Given the description of an element on the screen output the (x, y) to click on. 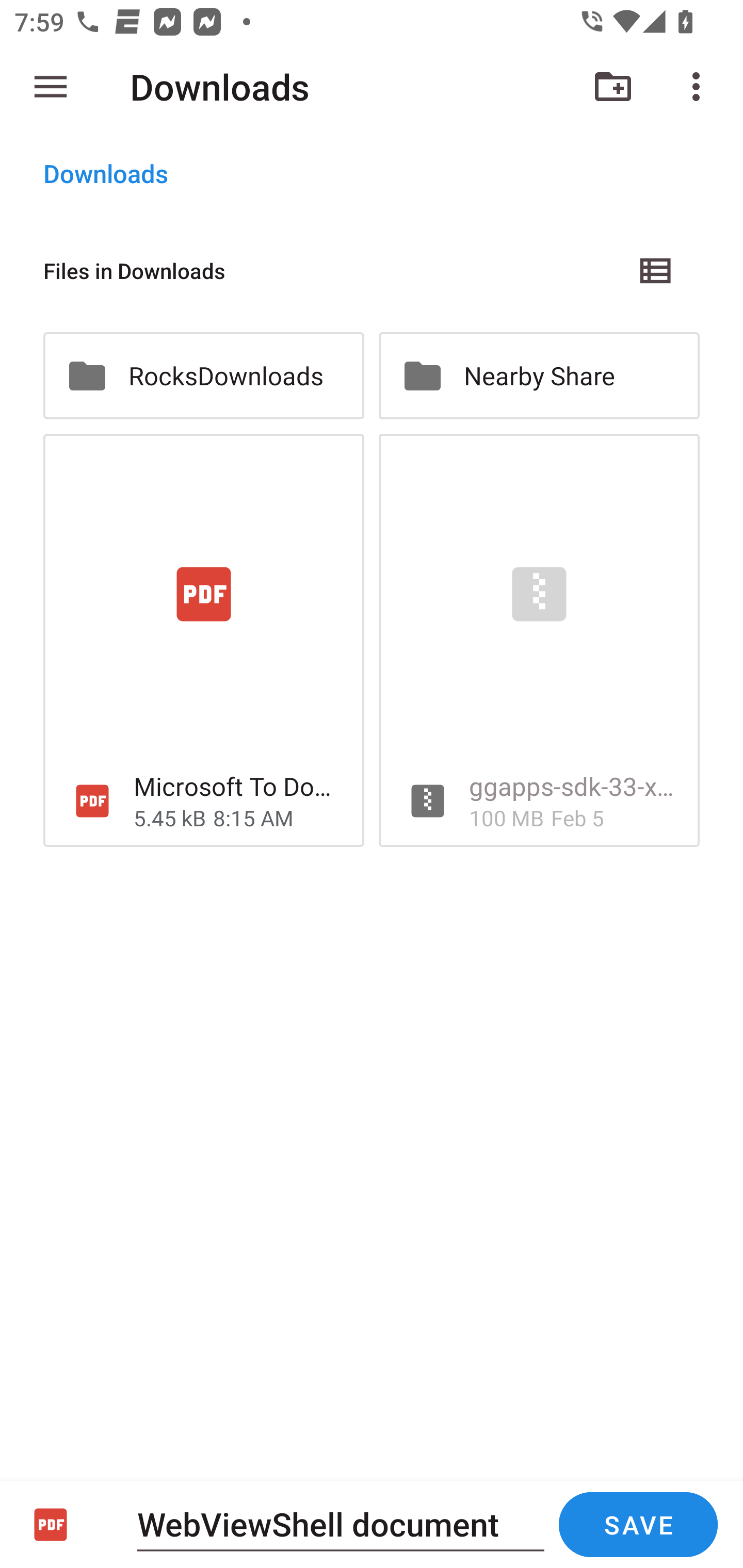
Show roots (50, 86)
New folder (612, 86)
More options (699, 86)
List view (655, 270)
RocksDownloads (203, 375)
Nearby Share (538, 375)
Microsoft To DoFlight Booking.pdf 5.45 kB 8:15 AM (203, 640)
ggapps-sdk-33-x86_64-20231003.zip 100 MB Feb 5 (538, 640)
SAVE (637, 1524)
WebViewShell document (340, 1523)
